Given the description of an element on the screen output the (x, y) to click on. 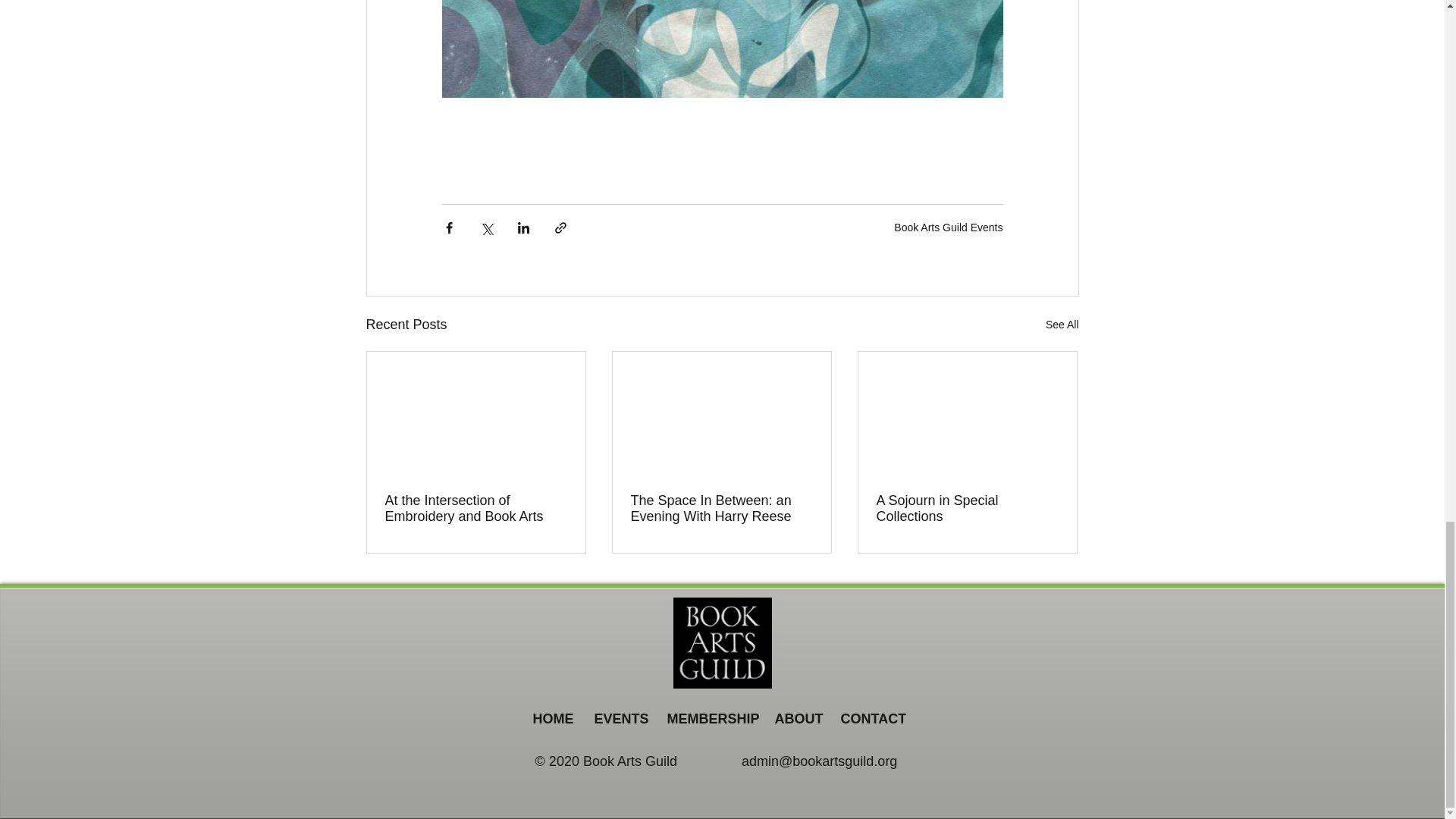
The Space In Between: an Evening With Harry Reese (721, 508)
Book Arts Guild Events (948, 226)
A Sojourn in Special Collections (967, 508)
See All (1061, 324)
CONTACT (868, 718)
At the Intersection of Embroidery and Book Arts (476, 508)
HOME (552, 718)
MEMBERSHIP (708, 718)
ABOUT (795, 718)
EVENTS (618, 718)
